Given the description of an element on the screen output the (x, y) to click on. 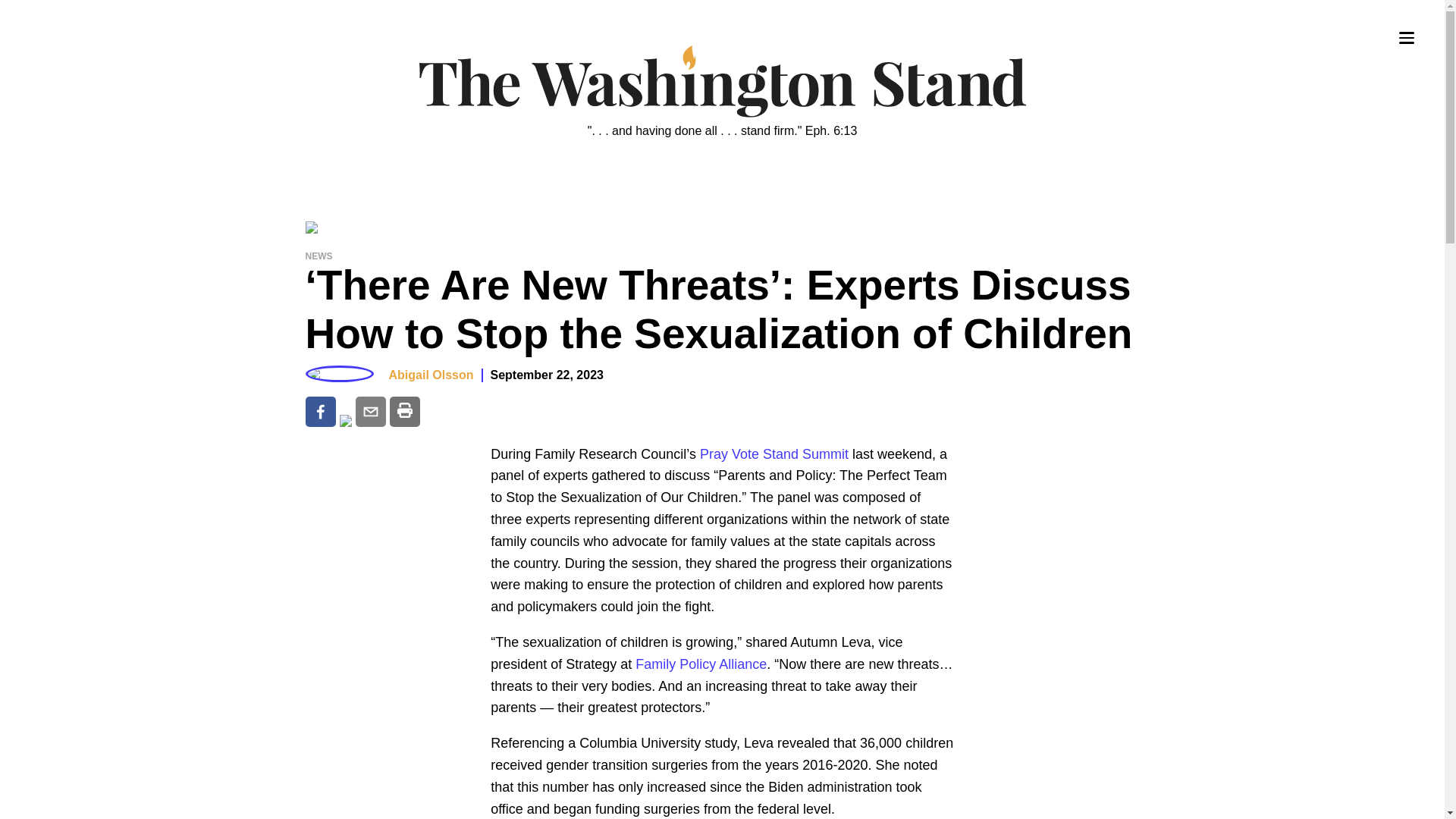
Pray Vote Stand Summit (774, 453)
Abigail Olsson (430, 374)
Family Policy Alliance (700, 663)
